Given the description of an element on the screen output the (x, y) to click on. 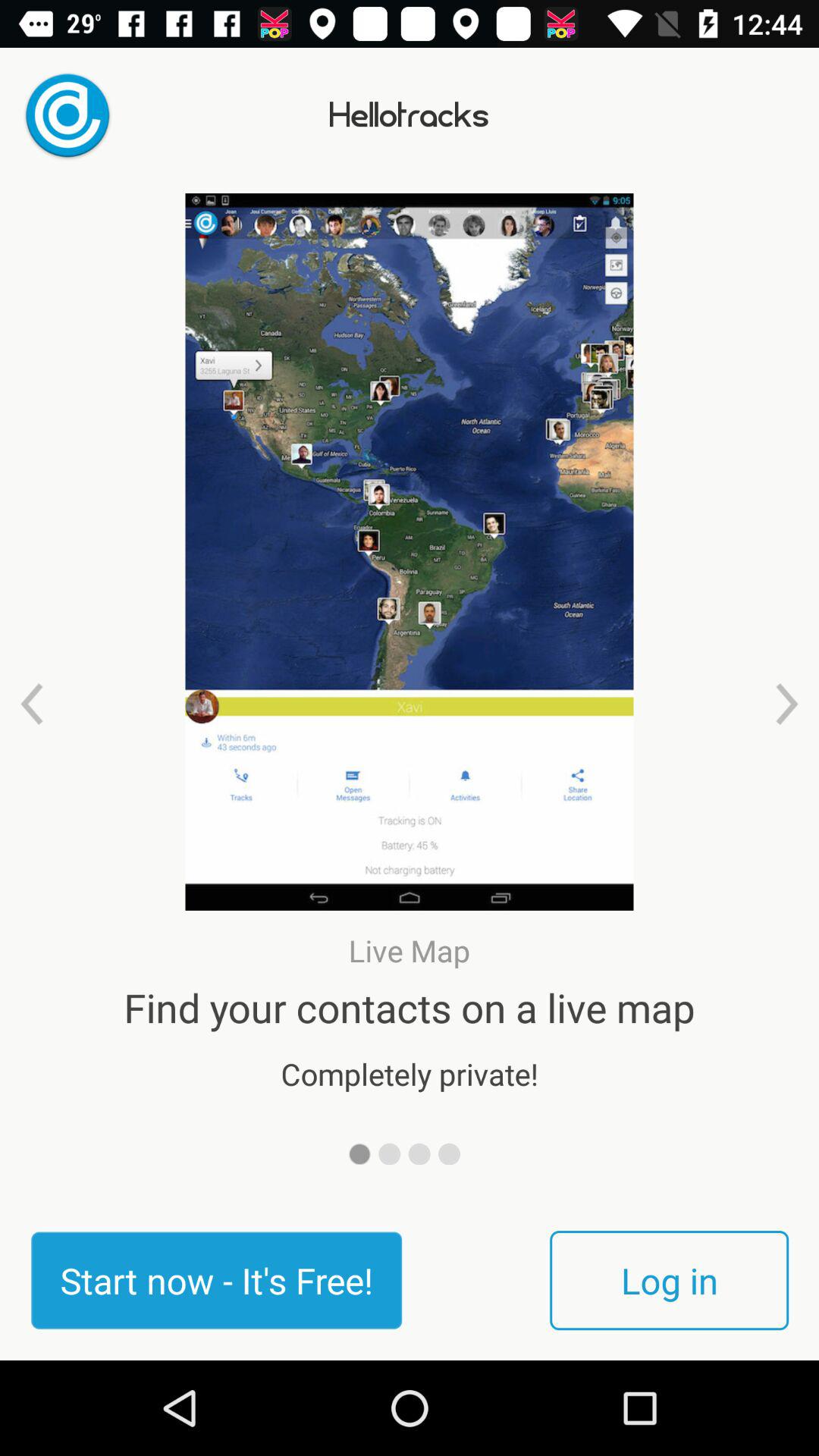
turn on icon next to the log in item (216, 1280)
